Given the description of an element on the screen output the (x, y) to click on. 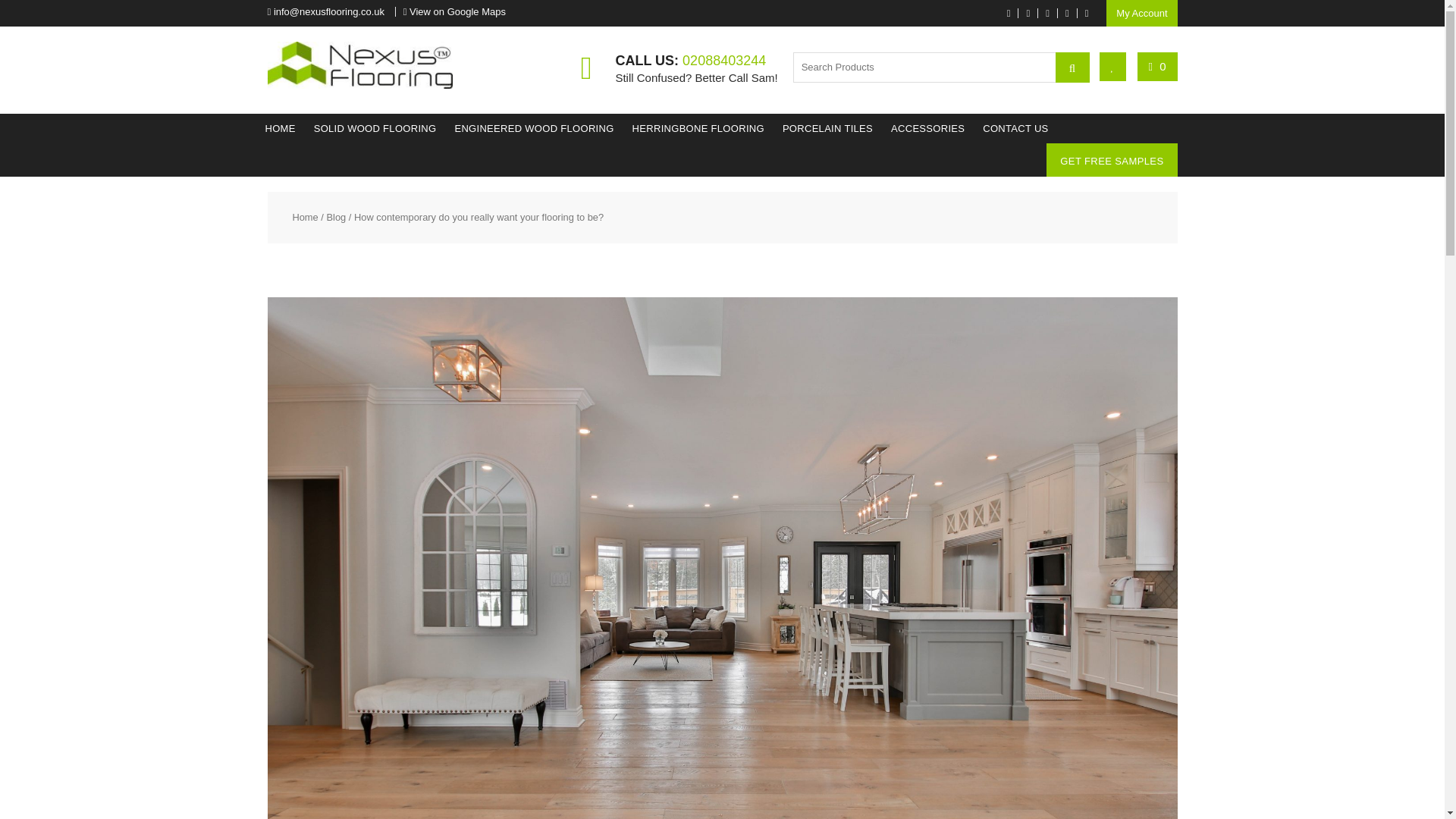
View on Google Maps (457, 11)
ACCESSORIES (928, 128)
GET FREE SAMPLES (1111, 161)
SOLID WOOD FLOORING (374, 128)
PORCELAIN TILES (827, 128)
HERRINGBONE FLOORING (698, 128)
0 (1157, 65)
CONTACT US (1015, 128)
HOME (280, 128)
My Account (1141, 13)
